Given the description of an element on the screen output the (x, y) to click on. 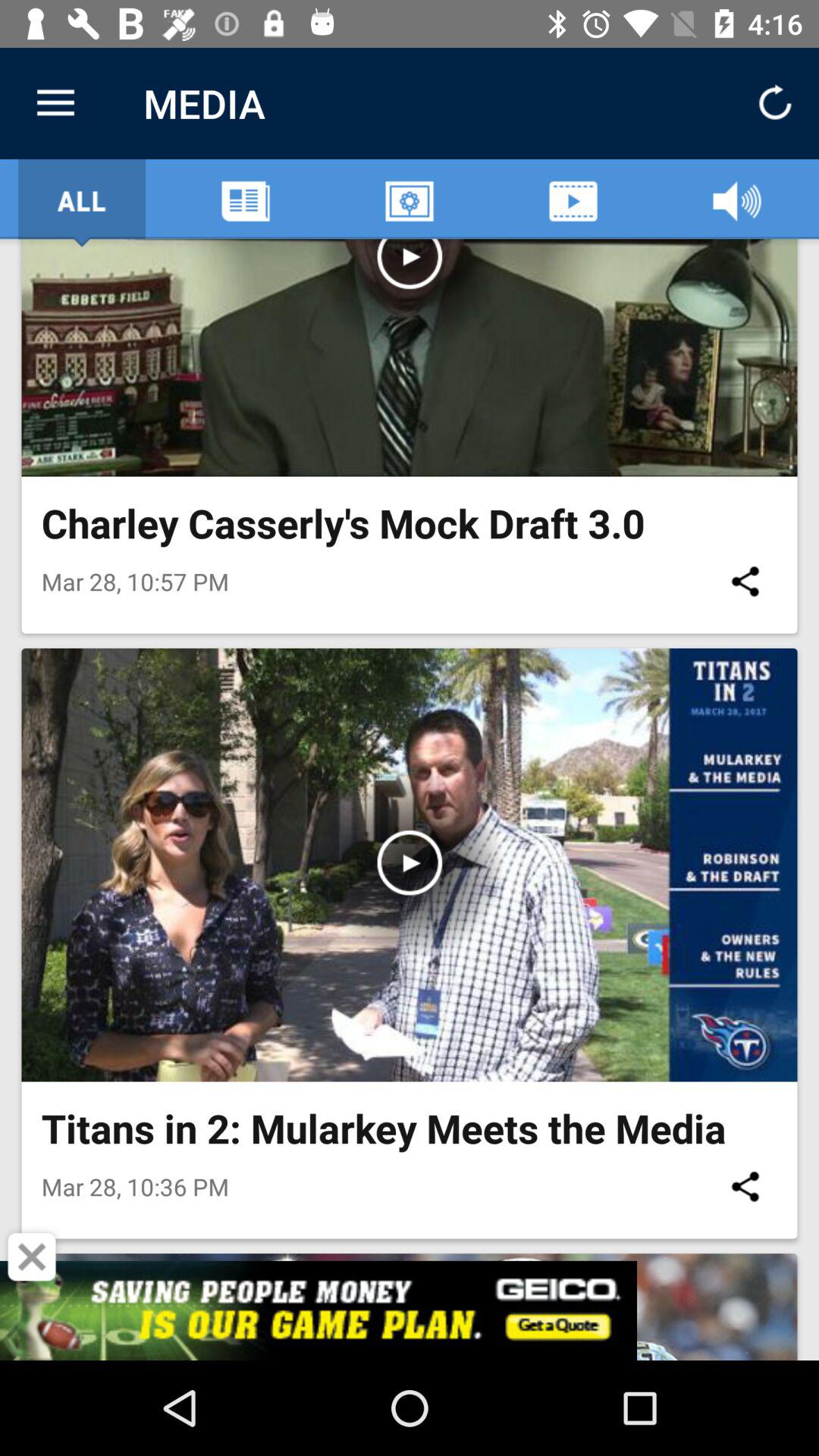
turn on item next to media (55, 103)
